Given the description of an element on the screen output the (x, y) to click on. 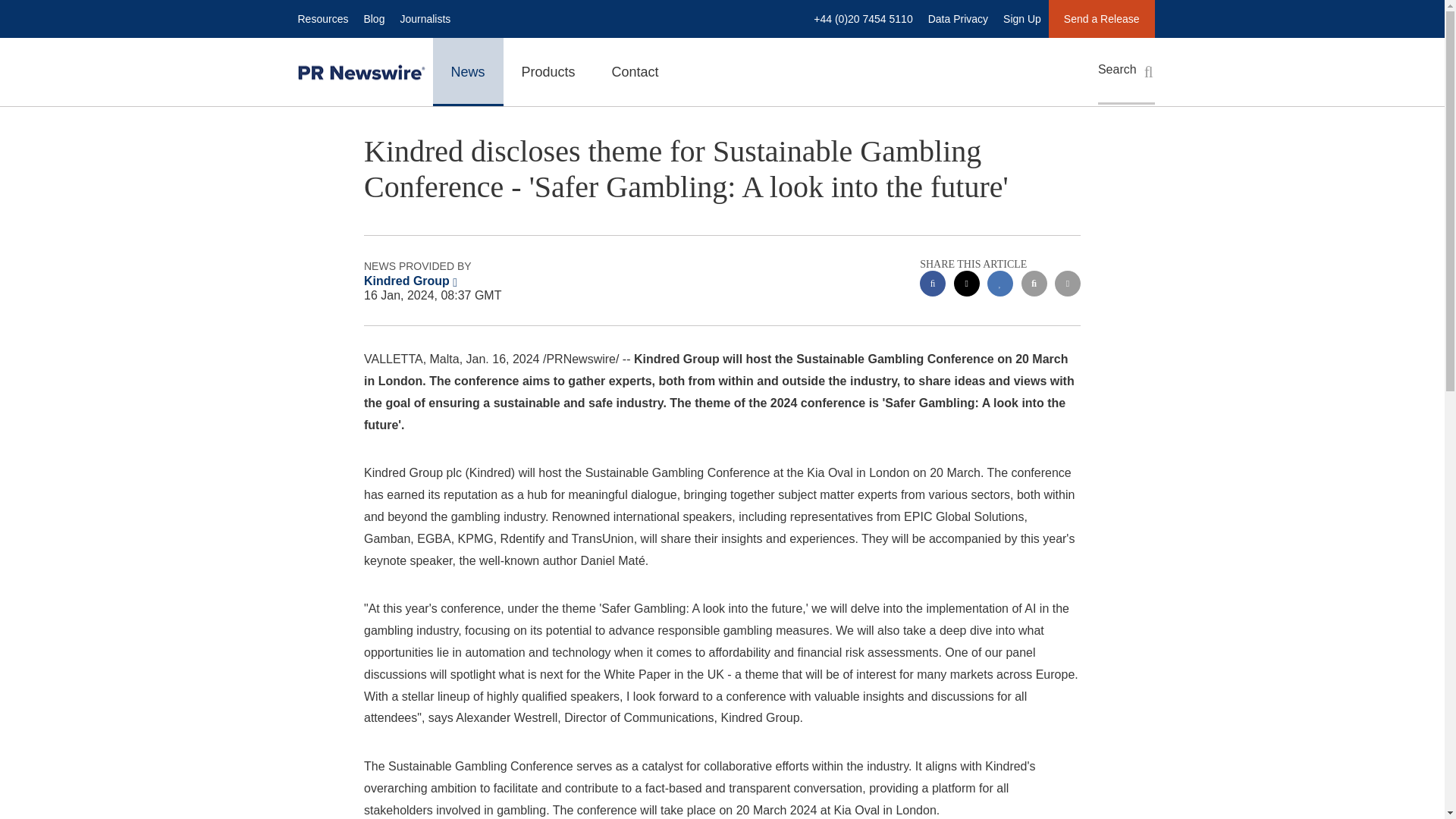
Send a Release (1101, 18)
Products (548, 71)
Contact (635, 71)
Data Privacy (957, 18)
Sign Up (1021, 18)
Blog (373, 18)
Journalists (424, 18)
News (467, 71)
Resources (322, 18)
